Given the description of an element on the screen output the (x, y) to click on. 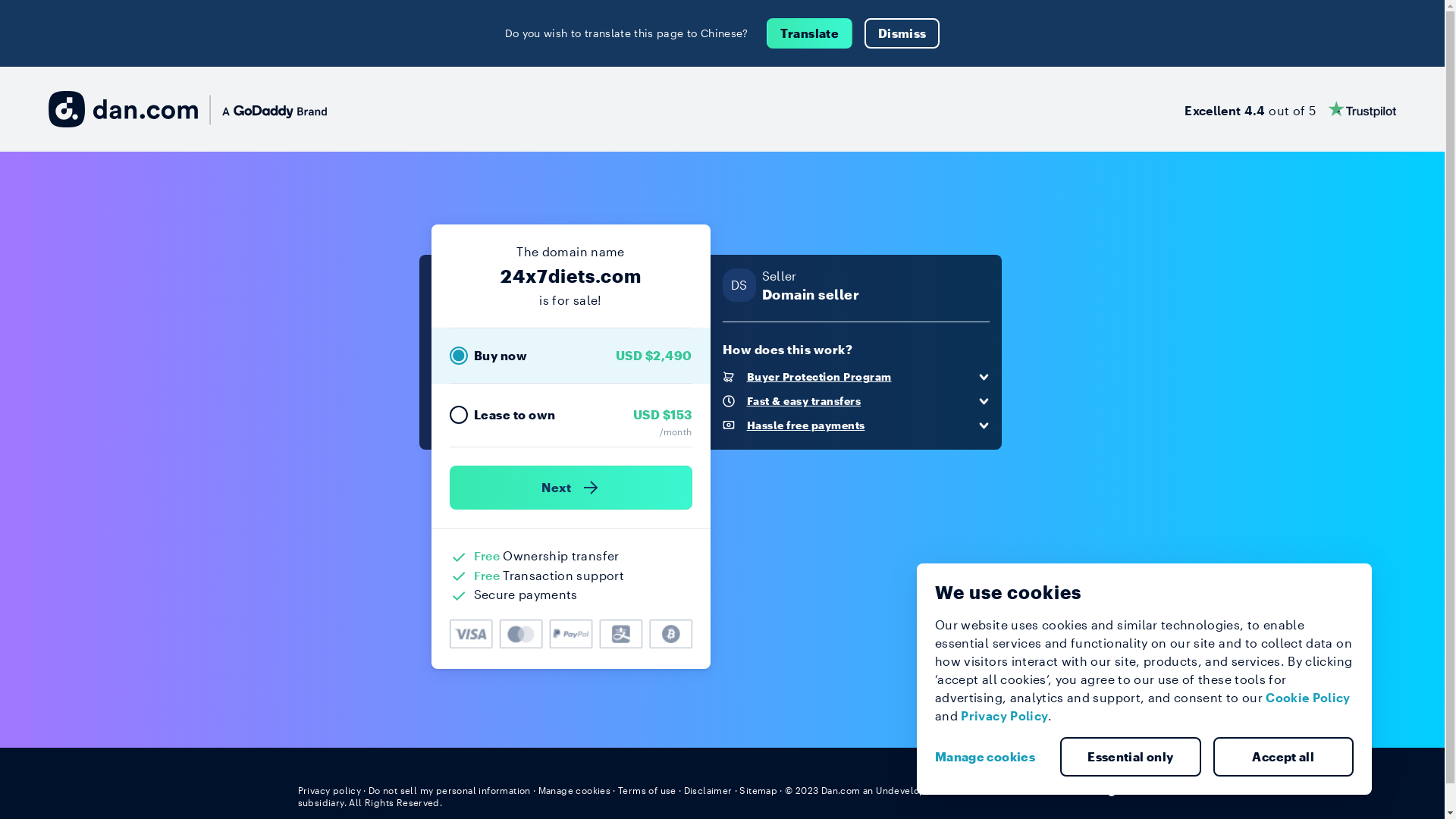
English Element type: text (1119, 789)
Disclaimer Element type: text (708, 789)
Manage cookies Element type: text (991, 756)
Translate Element type: text (809, 33)
Essential only Element type: text (1130, 756)
Terms of use Element type: text (647, 789)
Privacy Policy Element type: text (1004, 715)
Manage cookies Element type: text (574, 790)
Dismiss Element type: text (901, 33)
Do not sell my personal information Element type: text (449, 789)
Privacy policy Element type: text (328, 789)
Cookie Policy Element type: text (1307, 697)
Next
) Element type: text (569, 487)
Sitemap Element type: text (758, 789)
Accept all Element type: text (1283, 756)
Excellent 4.4 out of 5 Element type: text (1290, 109)
